Given the description of an element on the screen output the (x, y) to click on. 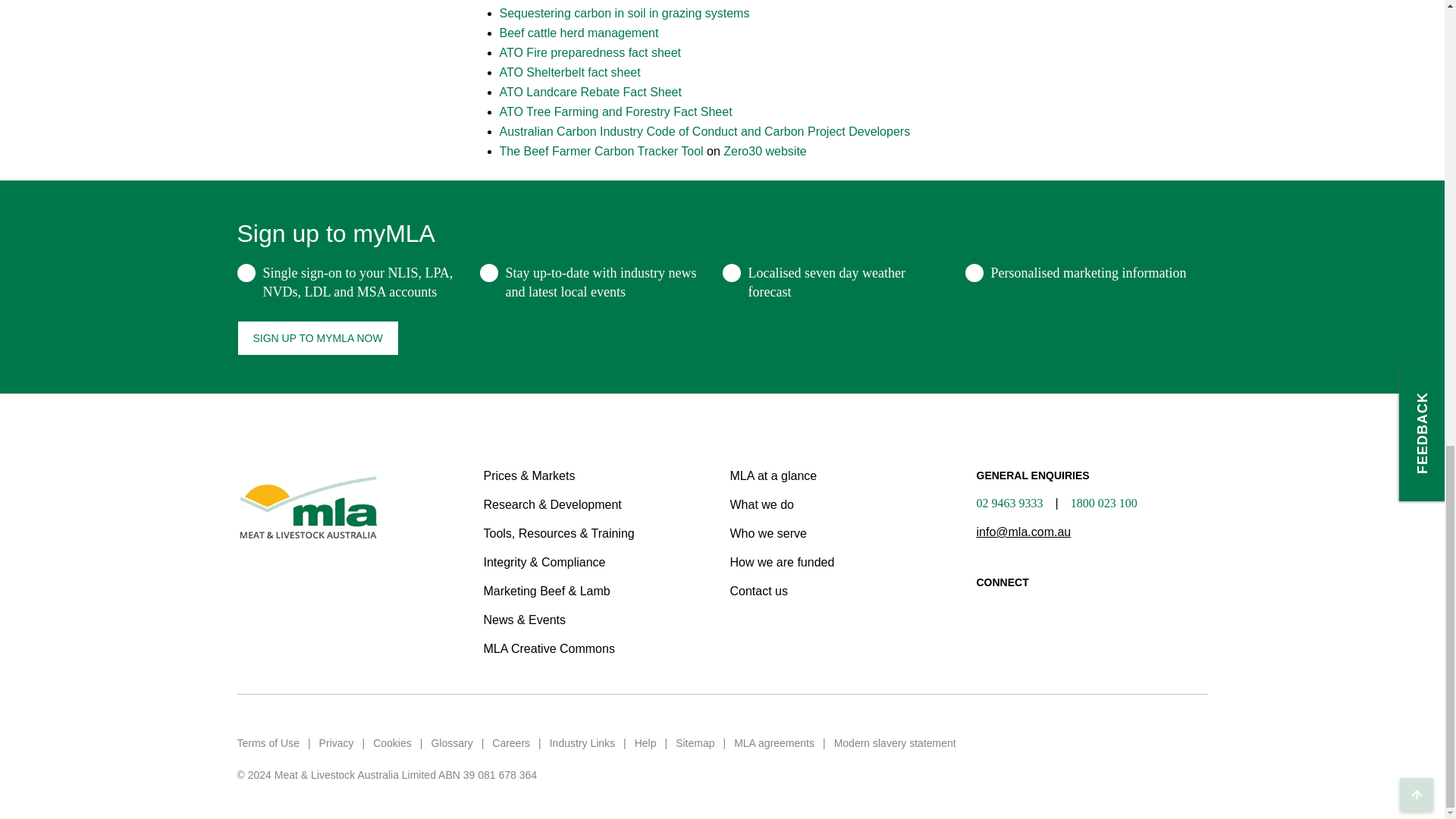
CONNECT (1092, 597)
